Given the description of an element on the screen output the (x, y) to click on. 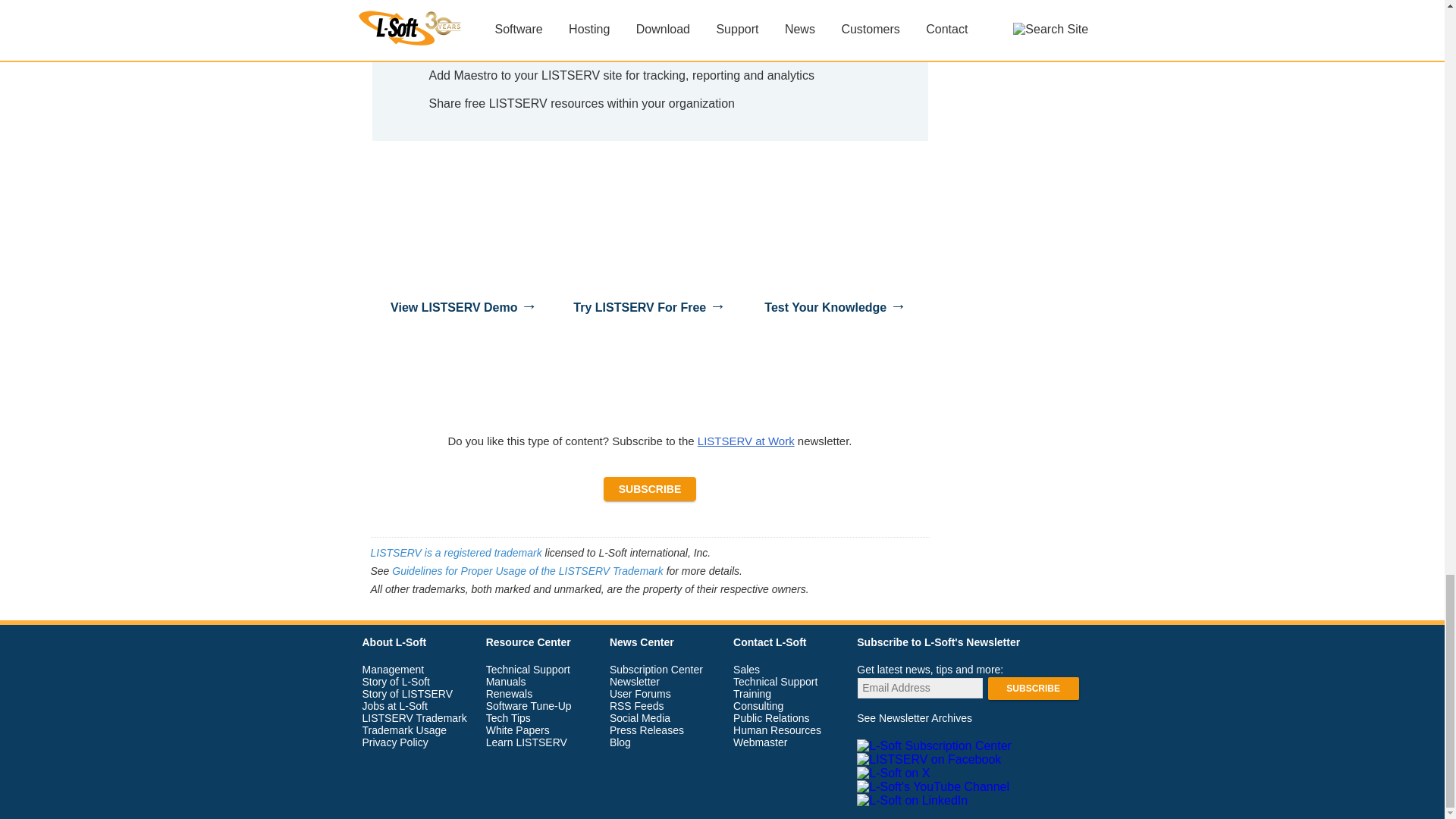
L-Soft on LinkedIn (914, 799)
LISTSERV on Facebook (930, 758)
Subscribe (1033, 687)
L-Soft Subscription Center (935, 745)
L-Soft on X (895, 772)
L-Soft's YouTube Channel (935, 786)
